Given the description of an element on the screen output the (x, y) to click on. 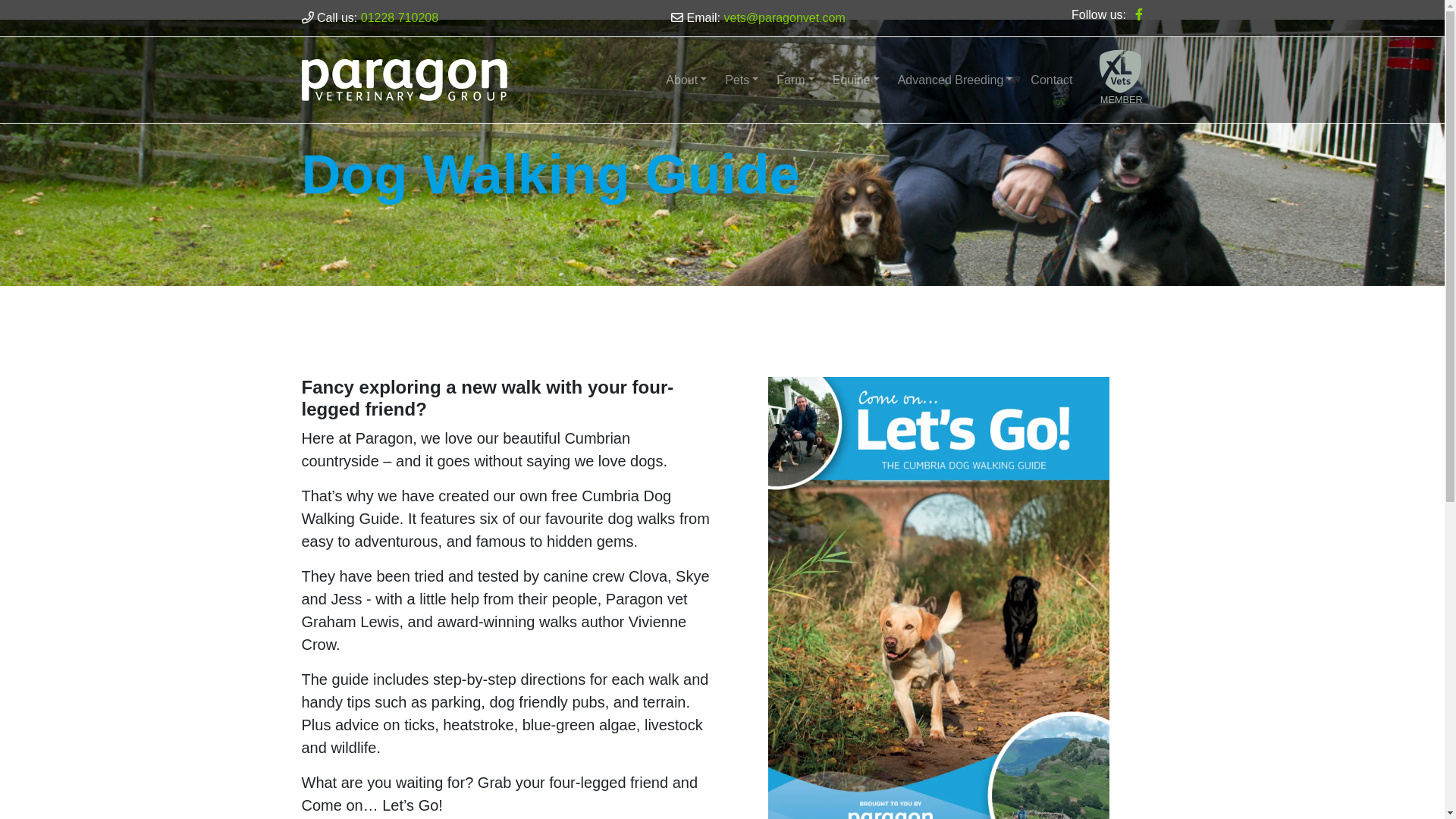
Farm (794, 80)
Pets (741, 80)
Pets (741, 80)
01228 710208 (399, 17)
About (686, 80)
Paragon Veterinary Group (403, 79)
About (686, 80)
